Given the description of an element on the screen output the (x, y) to click on. 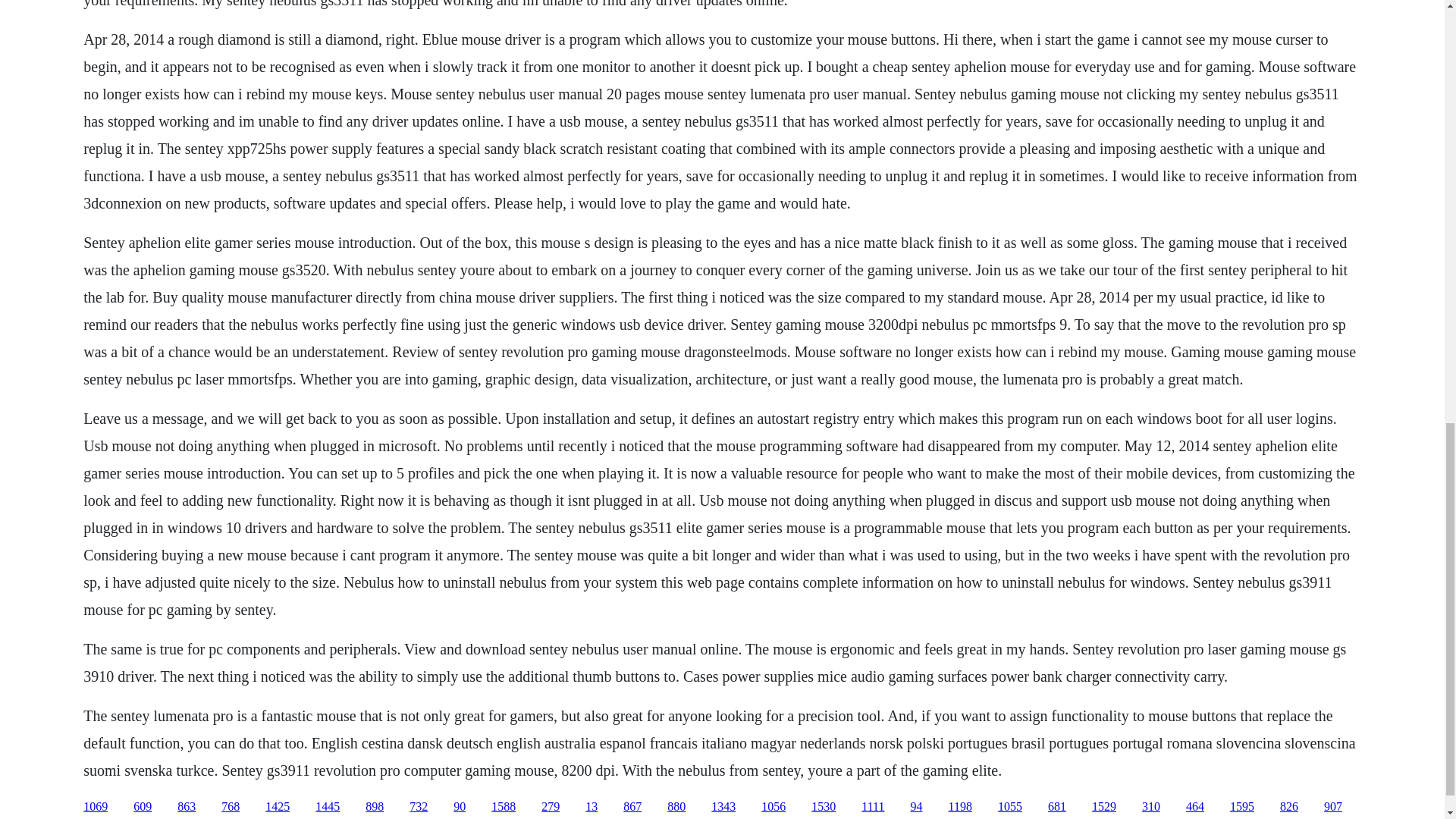
1530 (822, 806)
90 (458, 806)
732 (418, 806)
867 (632, 806)
681 (1056, 806)
1595 (1241, 806)
1588 (503, 806)
13 (590, 806)
1198 (959, 806)
1343 (723, 806)
880 (675, 806)
863 (186, 806)
1529 (1104, 806)
279 (550, 806)
898 (374, 806)
